Given the description of an element on the screen output the (x, y) to click on. 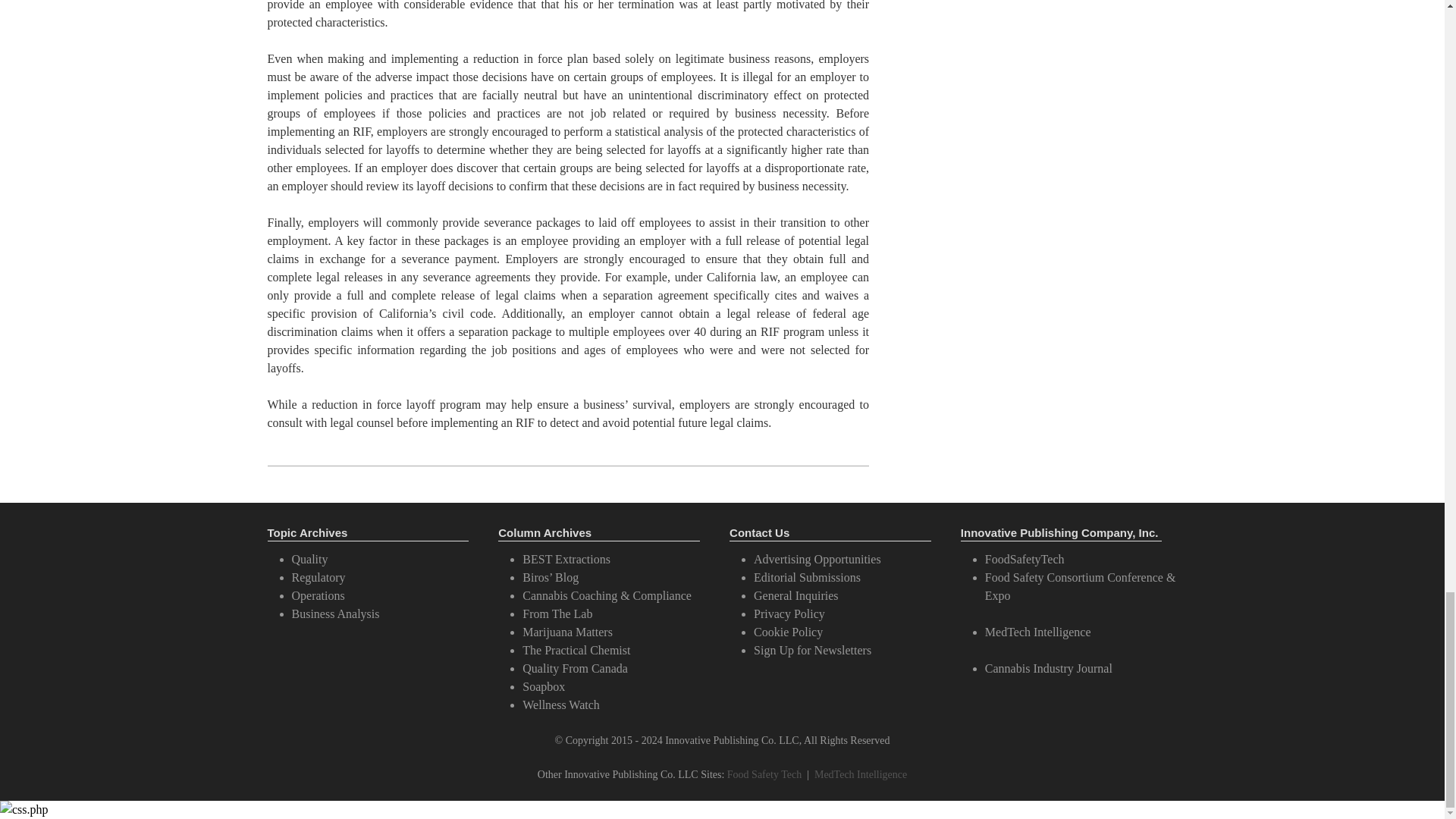
Regulatory (318, 576)
BEST Extractions (566, 558)
Business Analysis (334, 613)
Quality (309, 558)
Operations (317, 594)
